Given the description of an element on the screen output the (x, y) to click on. 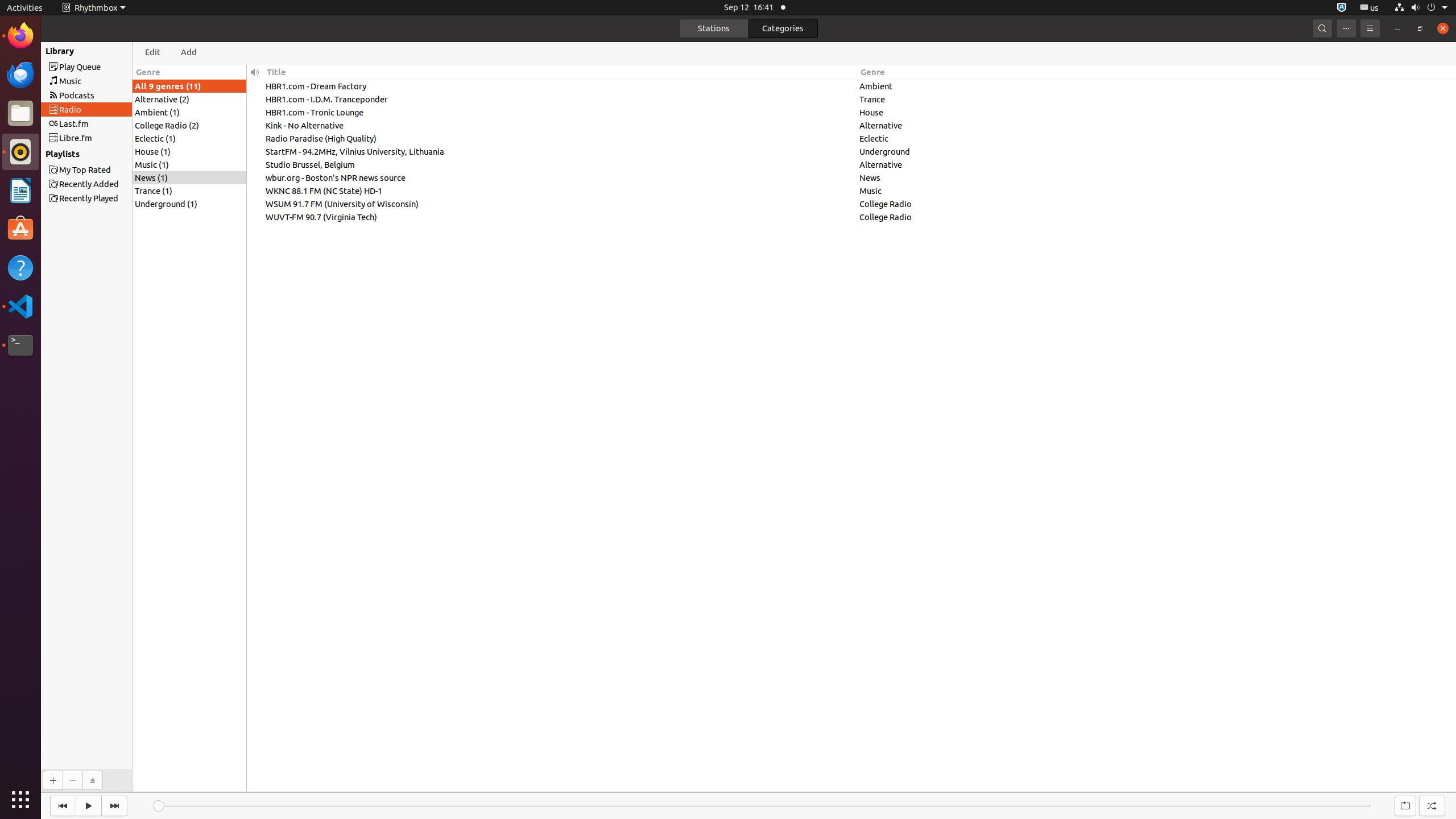
Add Element type: push-button (188, 51)
Trash Element type: label (75, 108)
College Radio (2) Element type: table-cell (189, 125)
